Given the description of an element on the screen output the (x, y) to click on. 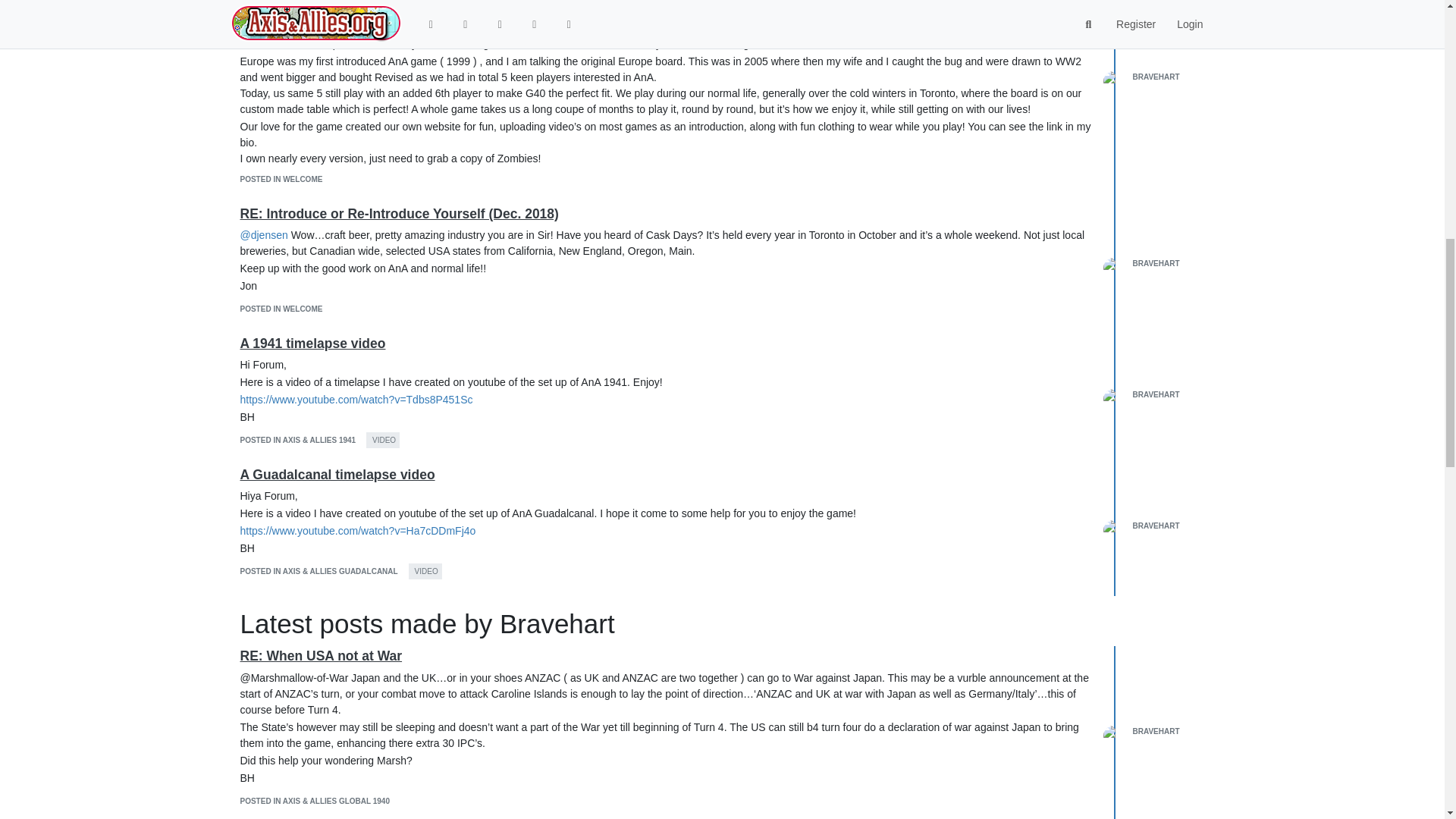
POSTED IN WELCOME (280, 179)
BRAVEHART (1155, 76)
POSTED IN WELCOME (280, 308)
